Given the description of an element on the screen output the (x, y) to click on. 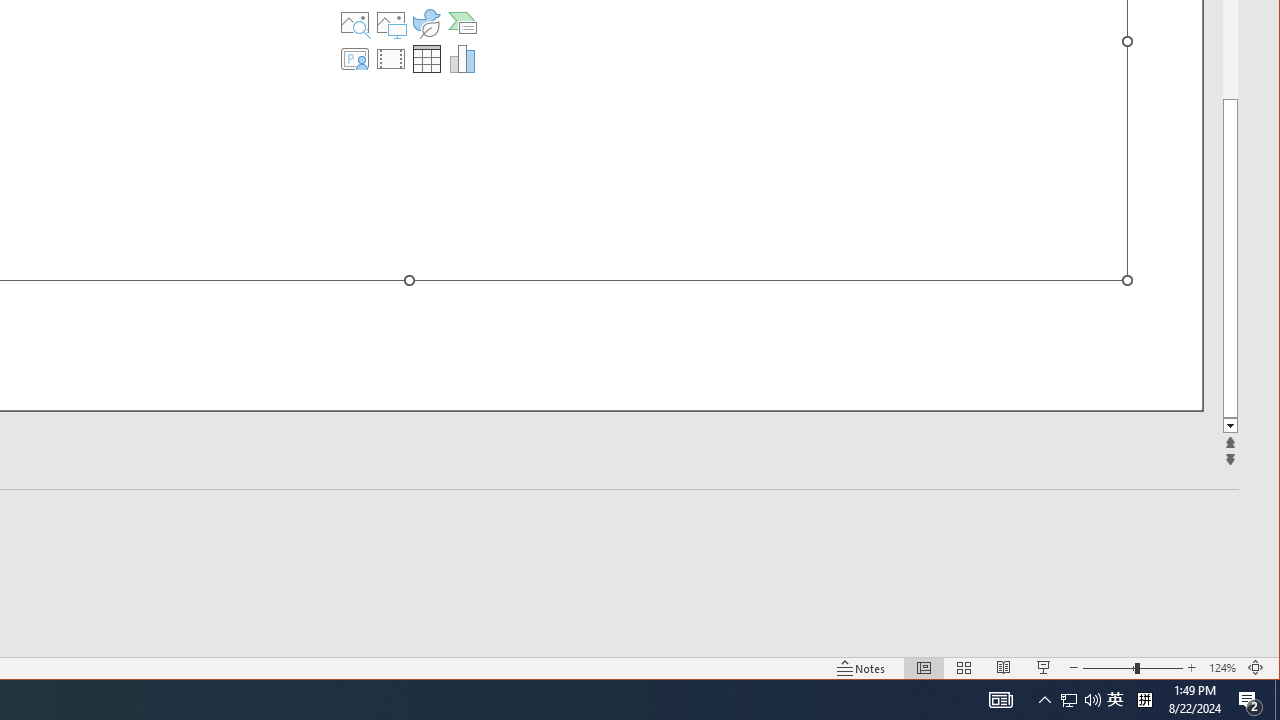
Insert a SmartArt Graphic (462, 22)
Insert Cameo (355, 58)
